Given the description of an element on the screen output the (x, y) to click on. 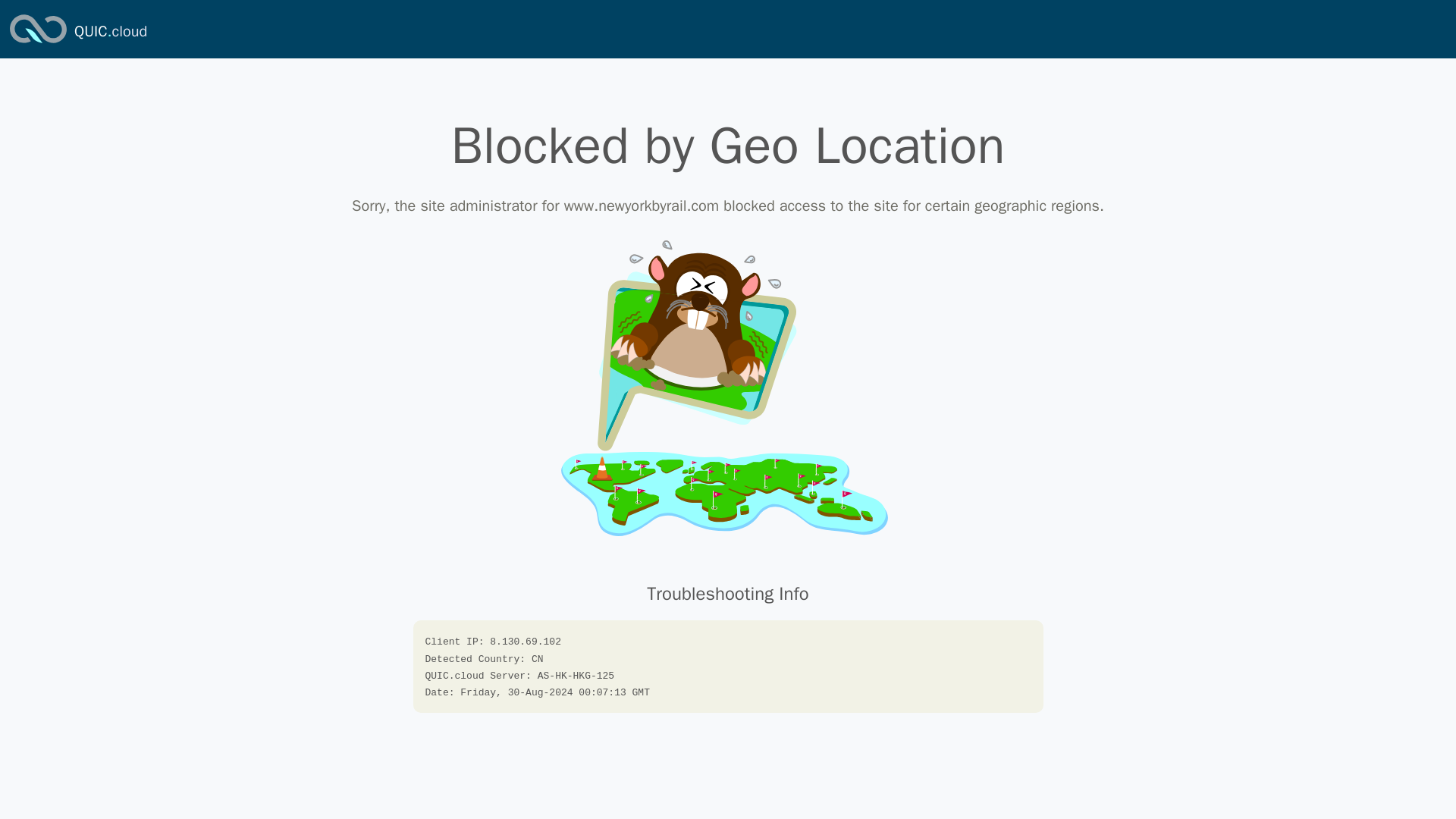
QUIC.cloud (37, 43)
QUIC.cloud (110, 31)
QUIC.cloud (110, 31)
